Given the description of an element on the screen output the (x, y) to click on. 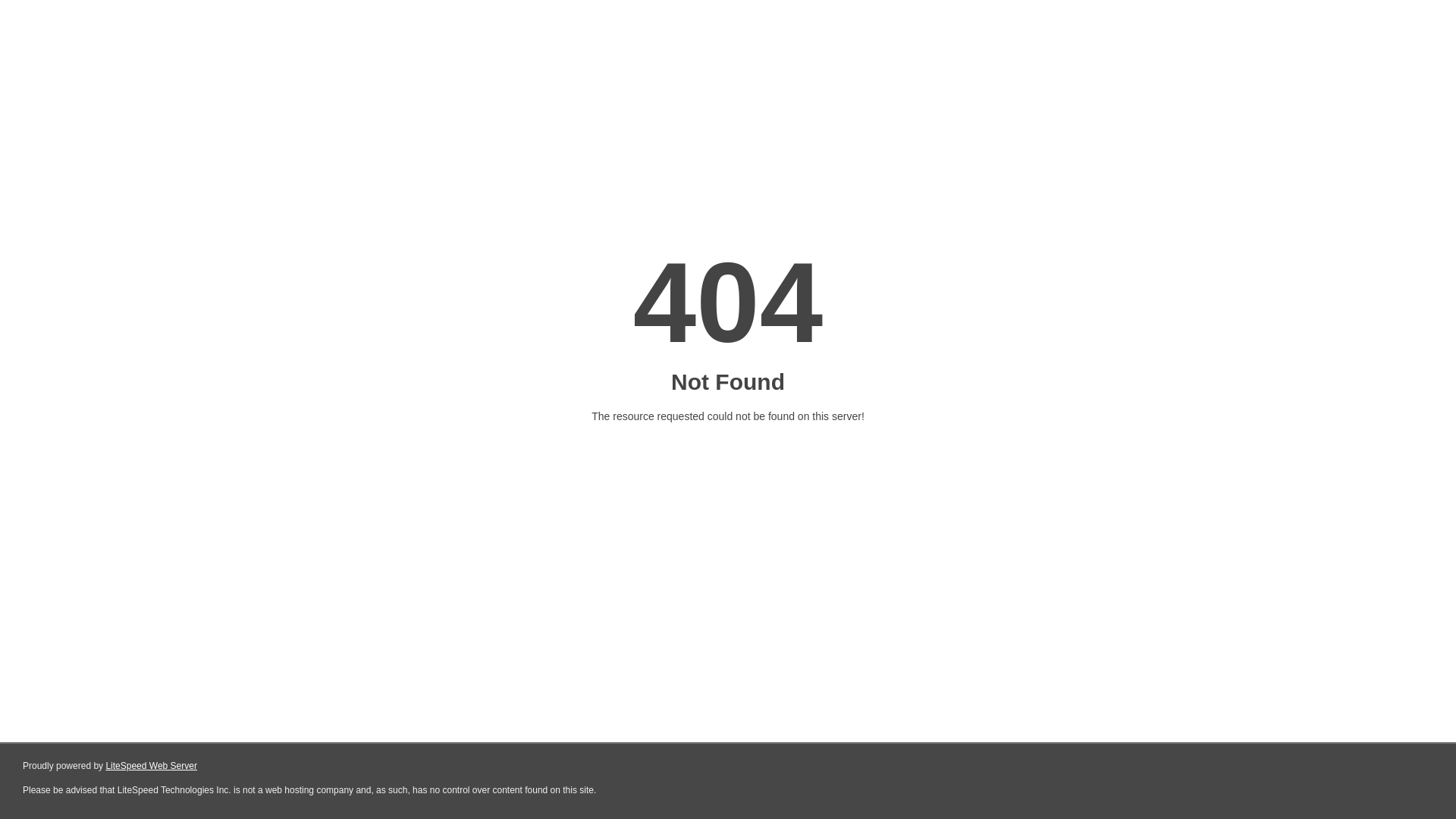
LiteSpeed Web Server Element type: text (151, 765)
